Given the description of an element on the screen output the (x, y) to click on. 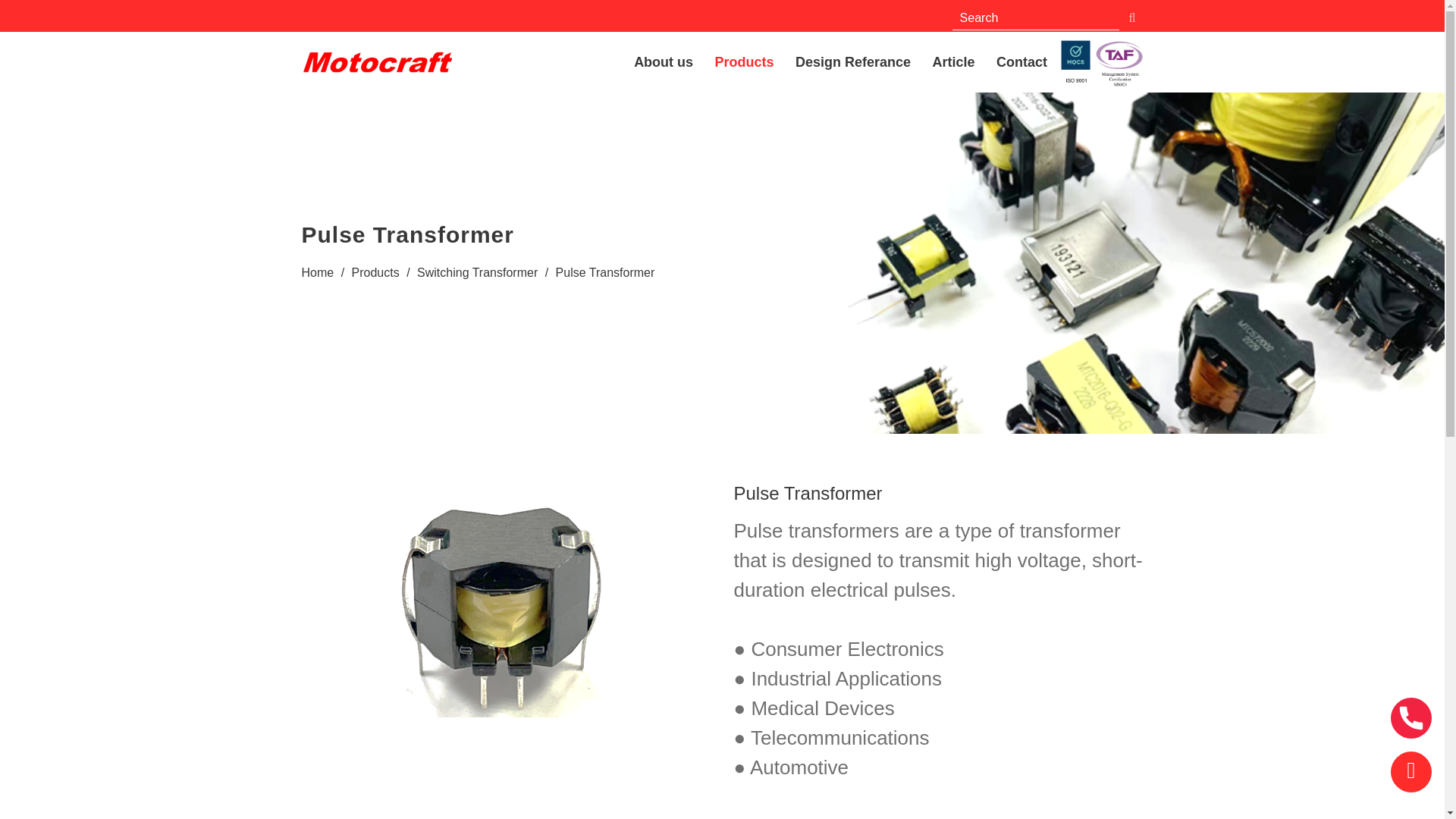
Article (953, 61)
Contact (1022, 61)
Home (317, 272)
Design Referance (853, 61)
Switching Transformer (476, 272)
Products (744, 61)
Products (375, 272)
Pulse Transformer (605, 272)
About us (662, 61)
